Given the description of an element on the screen output the (x, y) to click on. 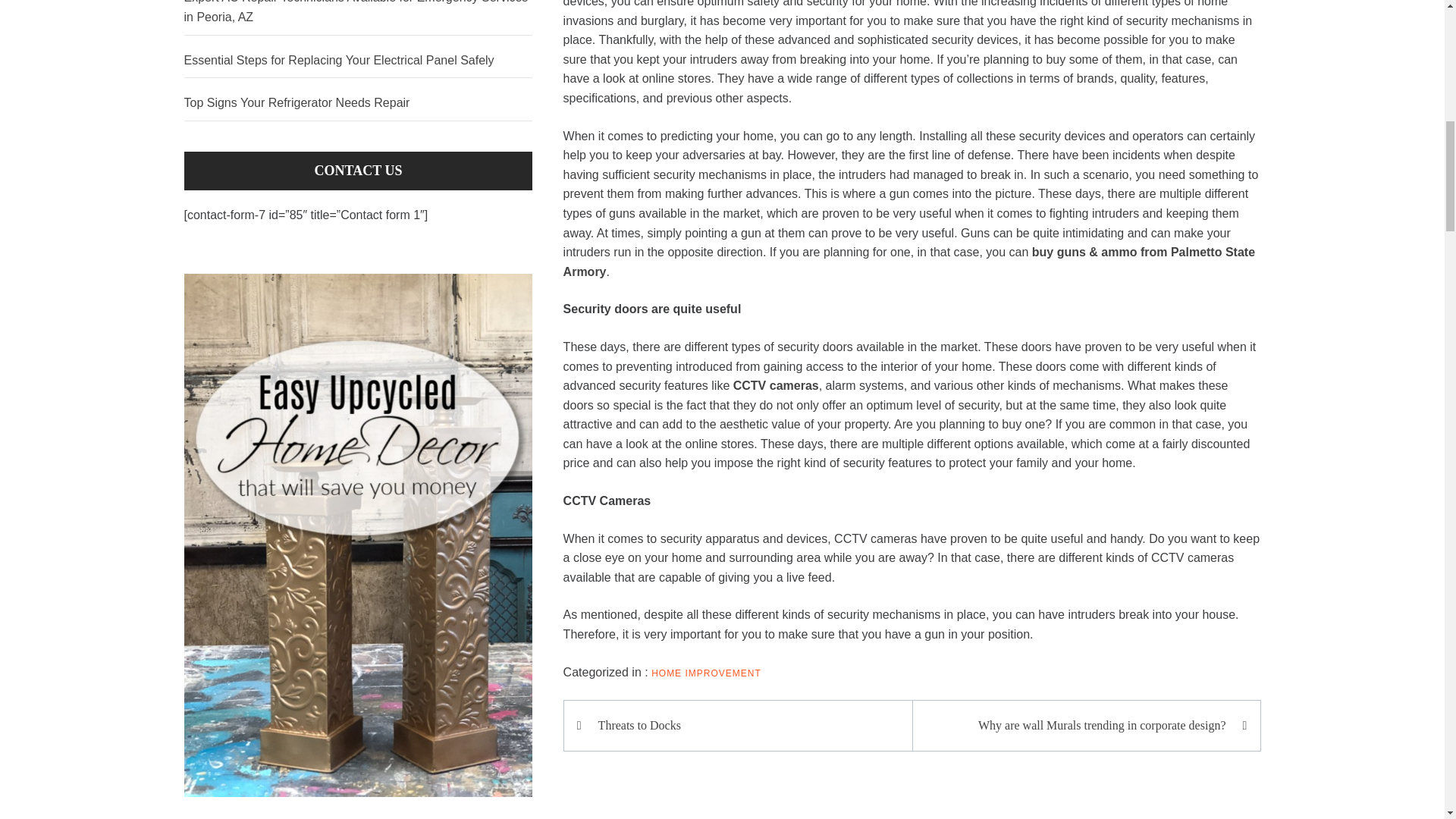
HOME IMPROVEMENT (705, 673)
CCTV cameras (775, 385)
Why are wall Murals trending in corporate design? (1078, 725)
Threats to Docks (745, 725)
Top Signs Your Refrigerator Needs Repair (357, 103)
Essential Steps for Replacing Your Electrical Panel Safely (357, 60)
